Given the description of an element on the screen output the (x, y) to click on. 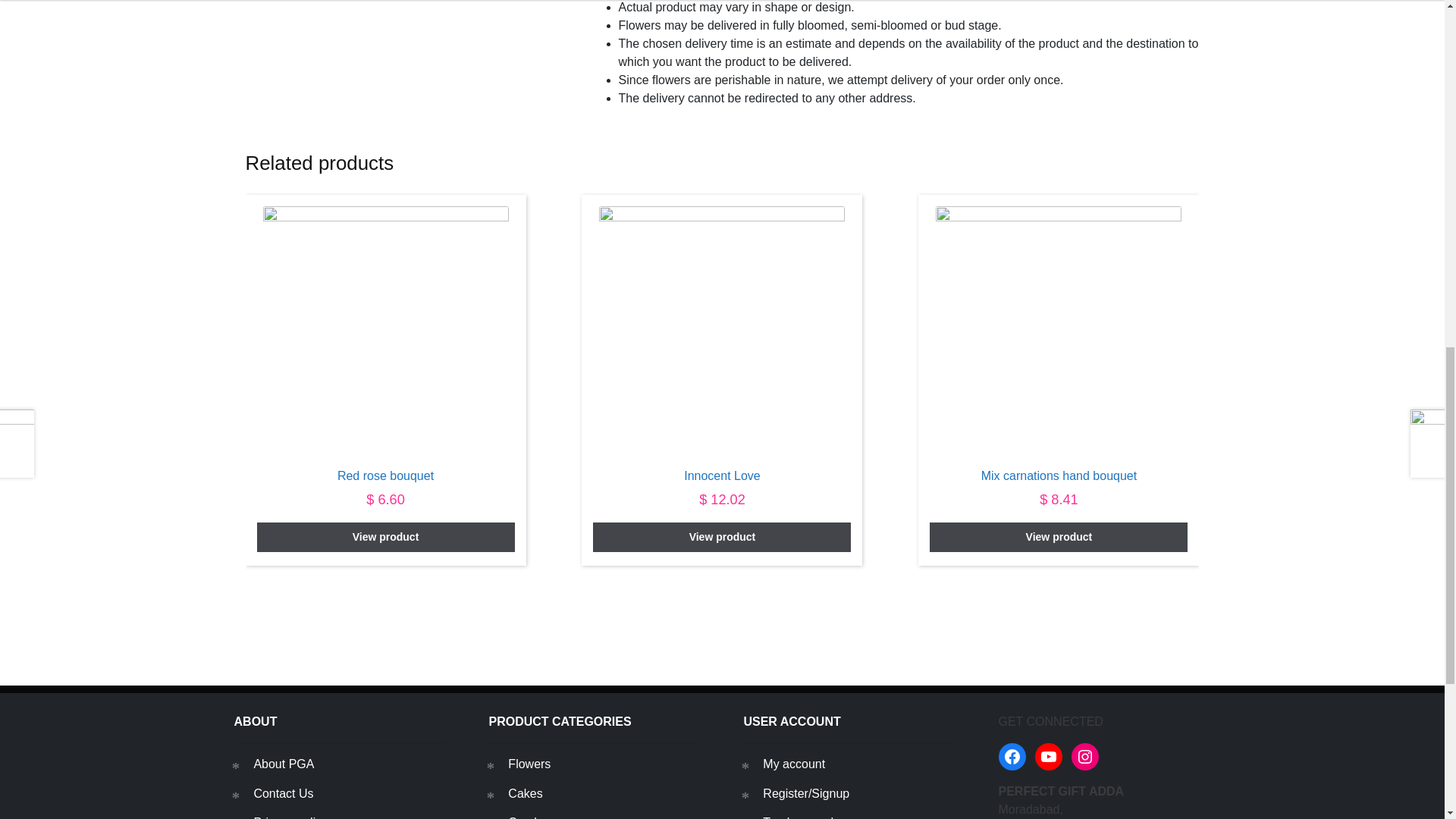
View product (386, 536)
View product (1059, 536)
View product (721, 536)
